Given the description of an element on the screen output the (x, y) to click on. 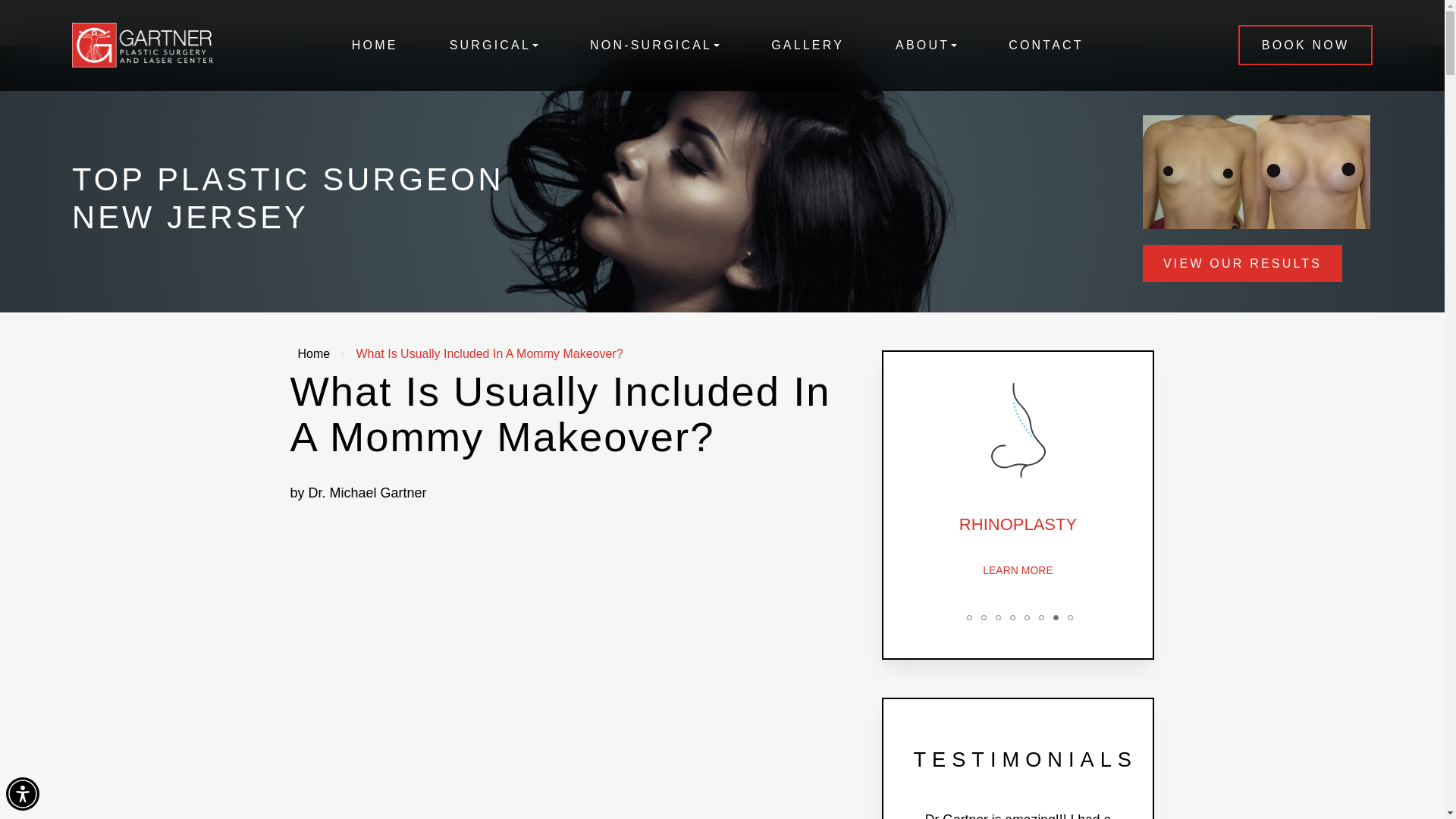
Accessibility Menu (22, 793)
